Given the description of an element on the screen output the (x, y) to click on. 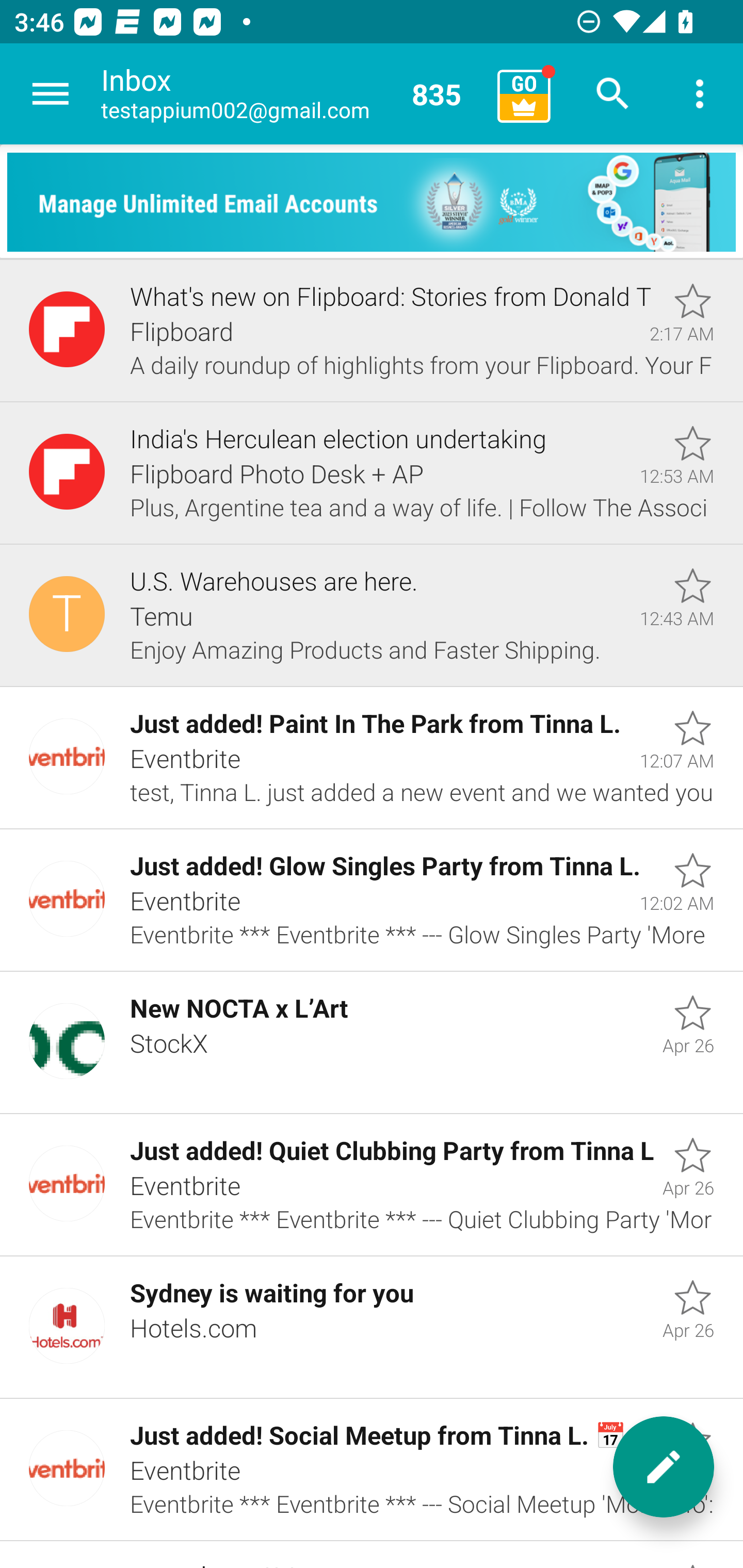
Navigate up (50, 93)
Inbox testappium002@gmail.com 835 (291, 93)
Search (612, 93)
More options (699, 93)
Unread, New NOCTA x L’Art, StockX, Apr 26 (371, 1043)
New message (663, 1466)
